Given the description of an element on the screen output the (x, y) to click on. 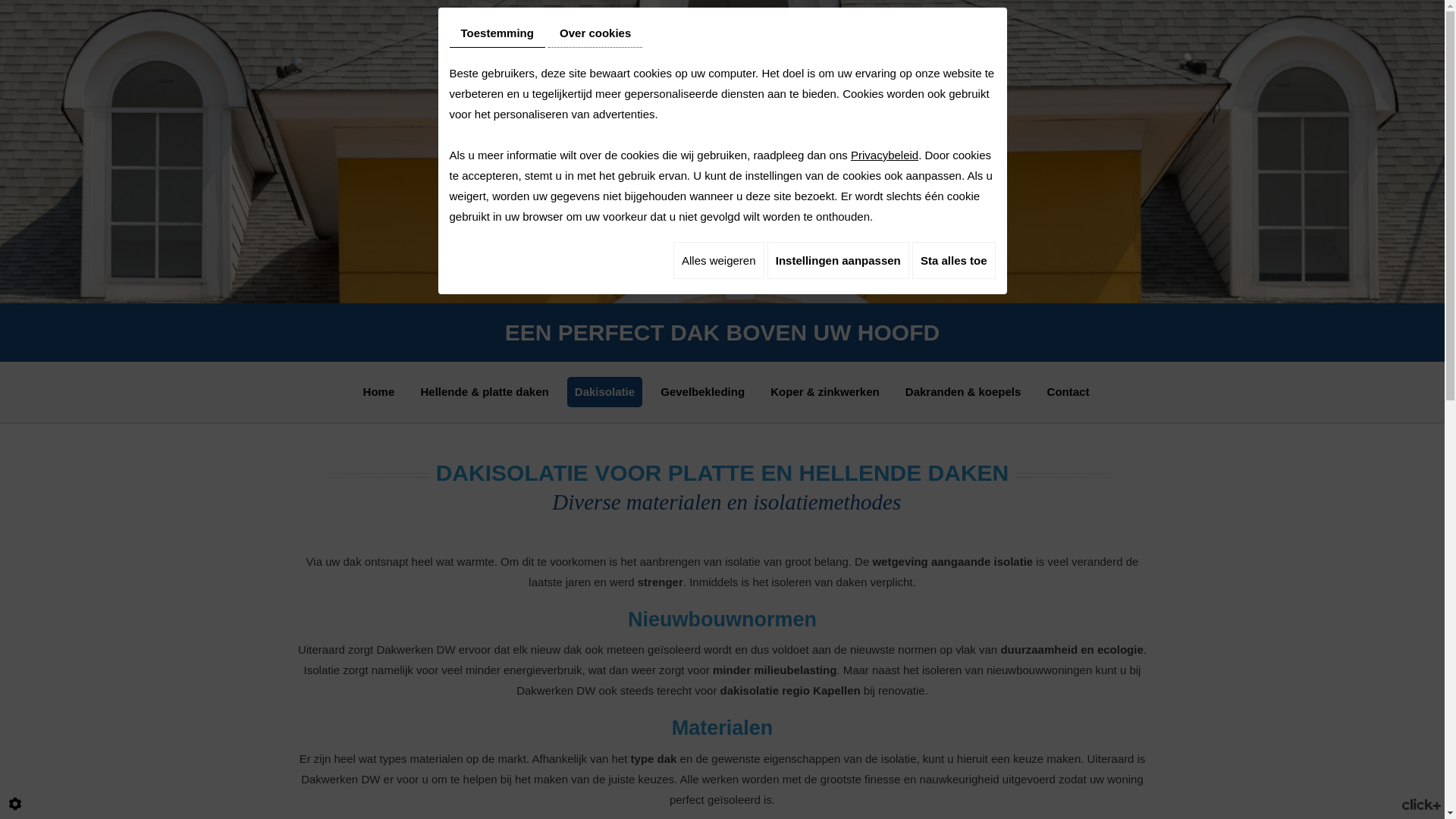
Koper & zinkwerken Element type: text (824, 391)
Instellingen aanpassen Element type: text (838, 260)
Home Element type: text (378, 391)
Toestemming Element type: text (496, 32)
Alles weigeren Element type: text (718, 260)
Cookie-instelling bewerken Element type: text (14, 803)
Contact Element type: text (1068, 391)
Dakisolatie Element type: text (604, 391)
Sta alles toe Element type: text (953, 260)
Dakwerken DW - dakwerker Element type: hover (721, 151)
Over cookies Element type: text (595, 32)
Dakranden & koepels Element type: text (963, 391)
Privacybeleid Element type: text (884, 154)
Hellende & platte daken Element type: text (483, 391)
Gevelbekleding Element type: text (702, 391)
